Given the description of an element on the screen output the (x, y) to click on. 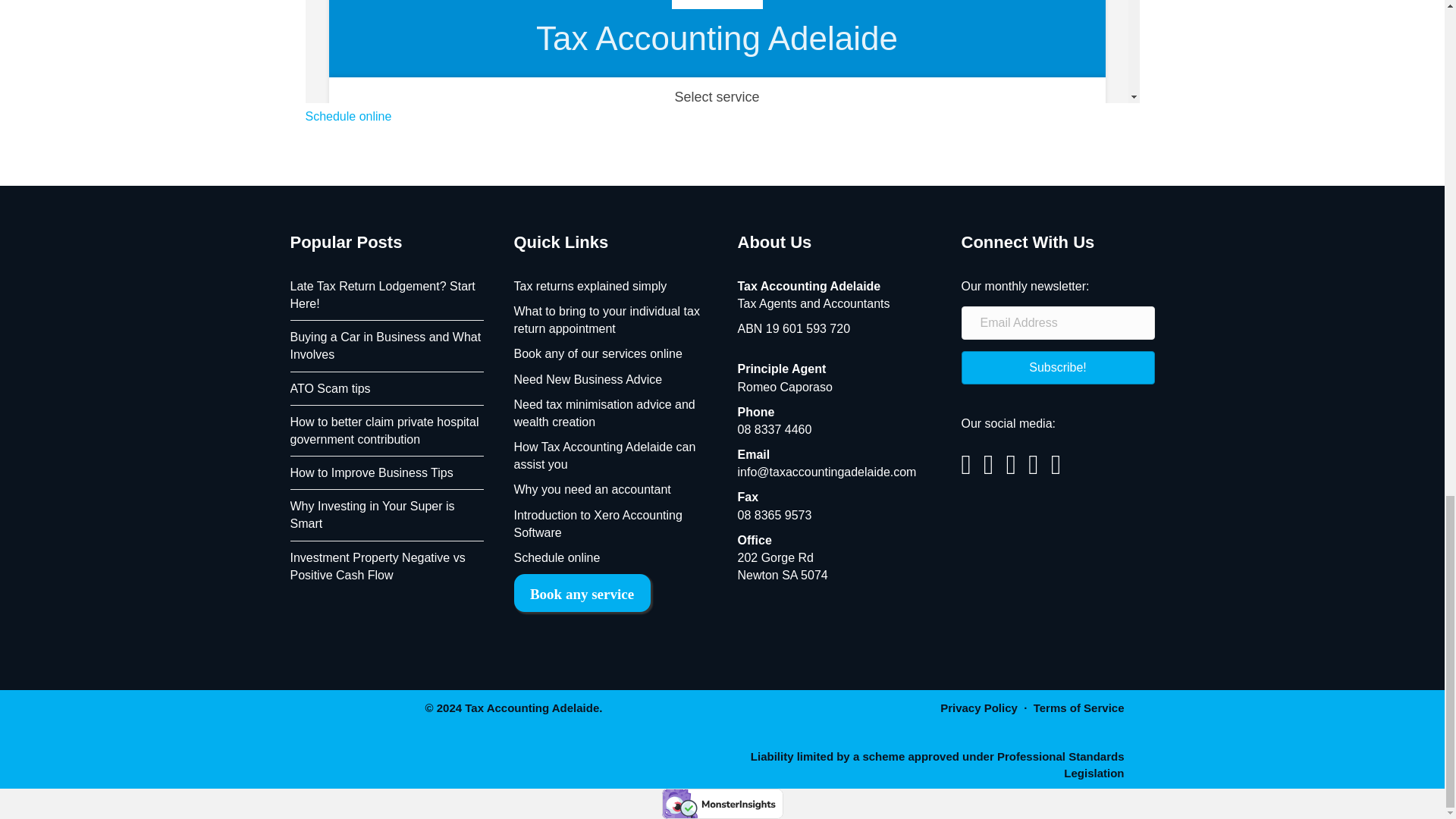
Buying a Car in Business and What Involves (384, 345)
Why Investing in Your Super is Smart (371, 514)
How to better claim private hospital government contribution (384, 430)
Investment Property Negative vs Positive Cash Flow (376, 566)
Schedule online (347, 115)
Book any service (581, 592)
Late Tax Return Lodgement? Start Here! (381, 295)
How to Improve Business Tips (370, 472)
ATO Scam tips (329, 388)
